Given the description of an element on the screen output the (x, y) to click on. 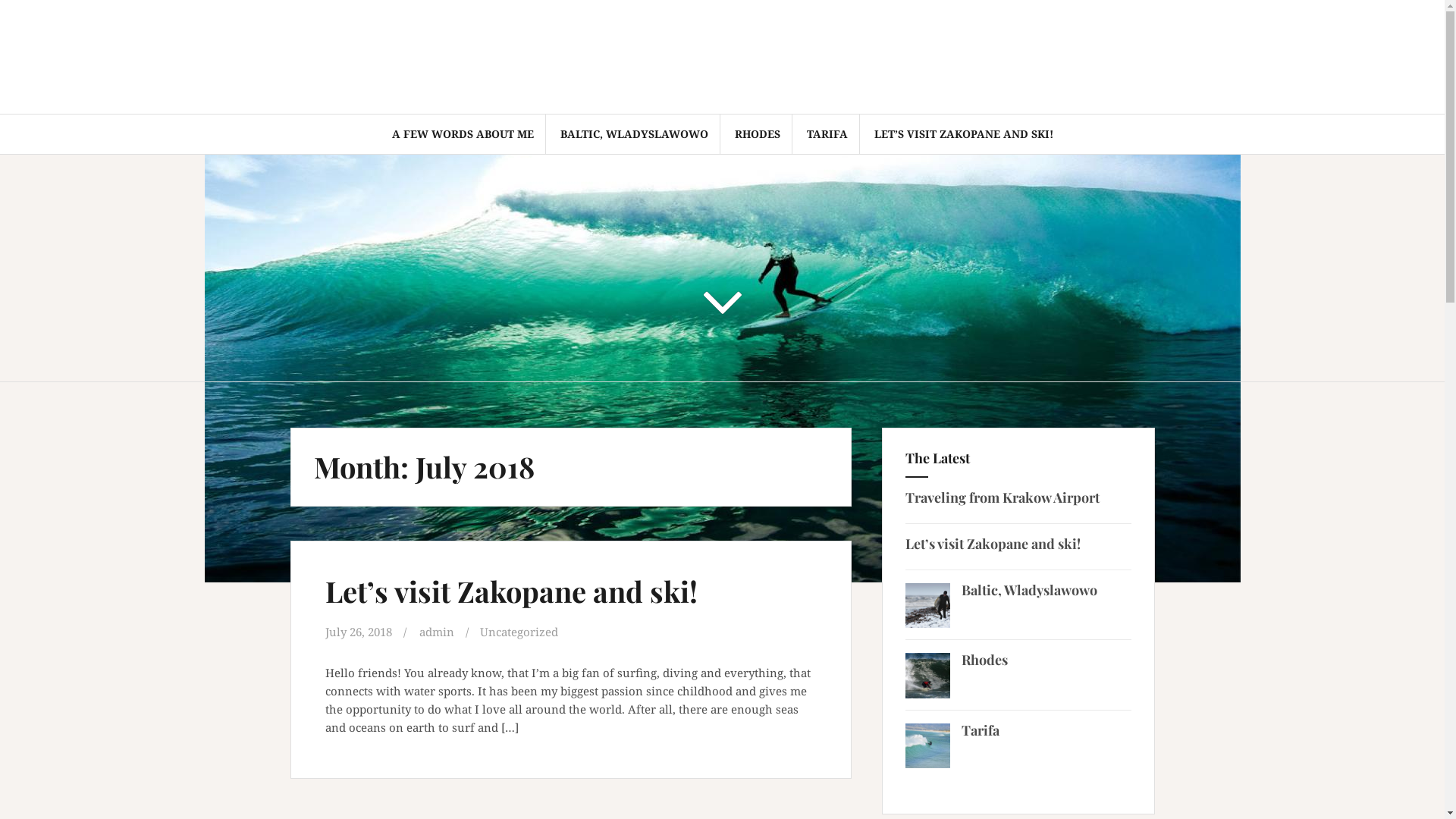
RHODES Element type: text (756, 133)
A FEW WORDS ABOUT ME Element type: text (462, 133)
Baltic, Wladyslawowo Element type: text (1029, 589)
TARIFA Element type: text (826, 133)
Tarifa Element type: text (980, 730)
Traveling from Krakow Airport Element type: text (1002, 497)
July 26, 2018 Element type: text (357, 631)
Uncategorized Element type: text (518, 631)
BALTIC, WLADYSLAWOWO Element type: text (633, 133)
Rhodes Element type: text (984, 659)
admin Element type: text (435, 631)
